Given the description of an element on the screen output the (x, y) to click on. 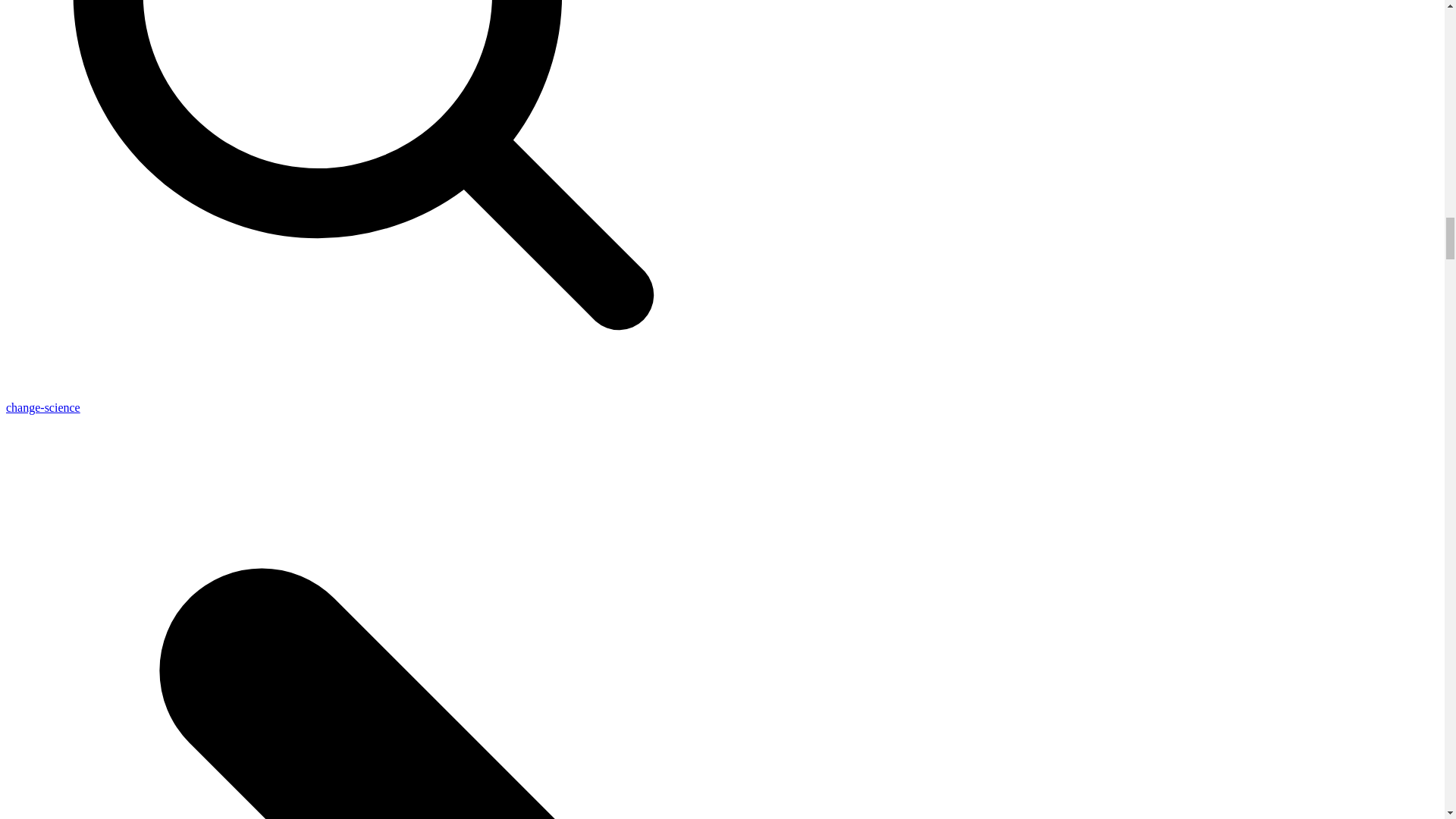
change-science (42, 407)
